Given the description of an element on the screen output the (x, y) to click on. 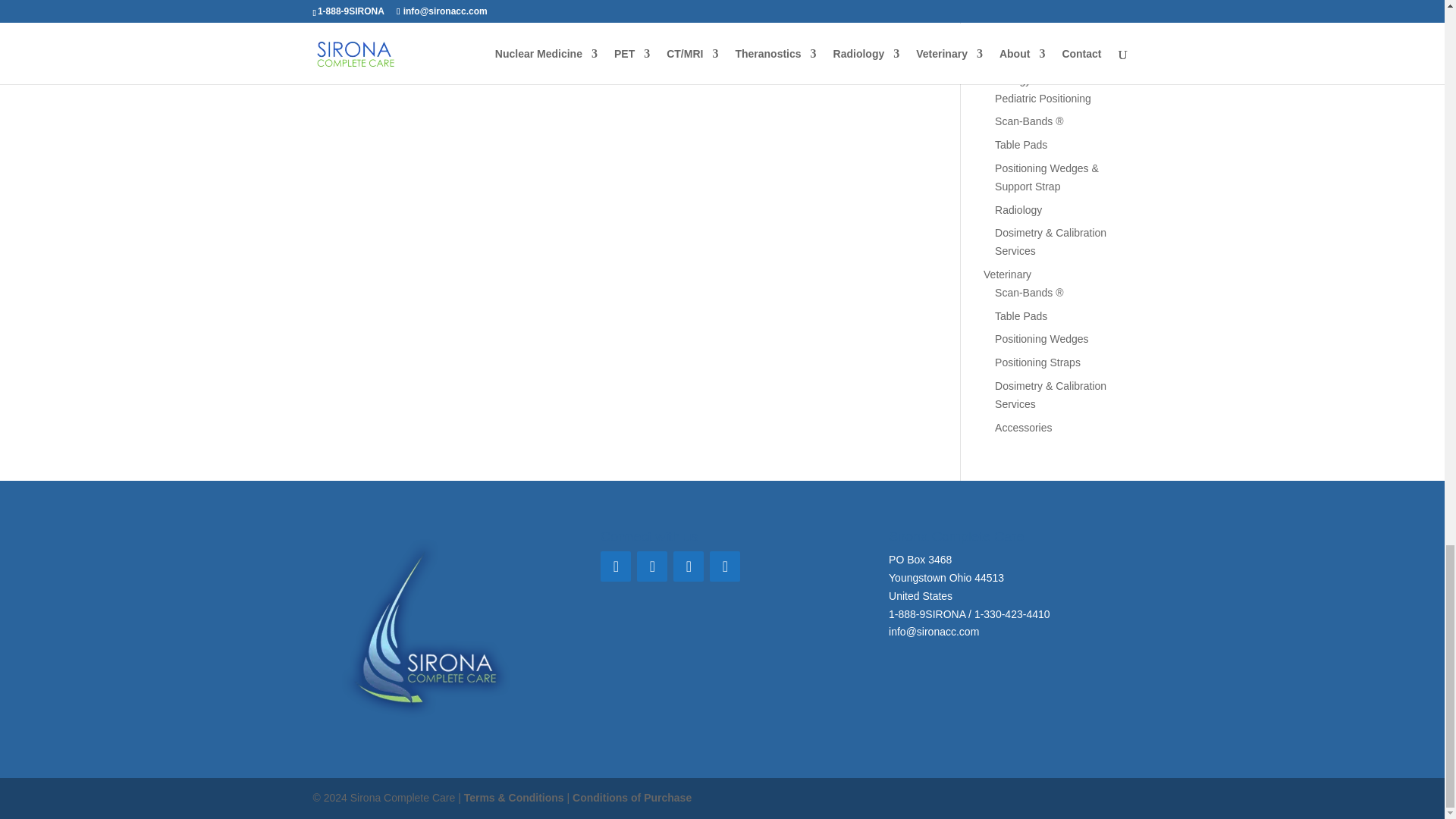
Facebook (614, 566)
Twitter (651, 566)
Instagram (724, 566)
LinkedIn (687, 566)
